Given the description of an element on the screen output the (x, y) to click on. 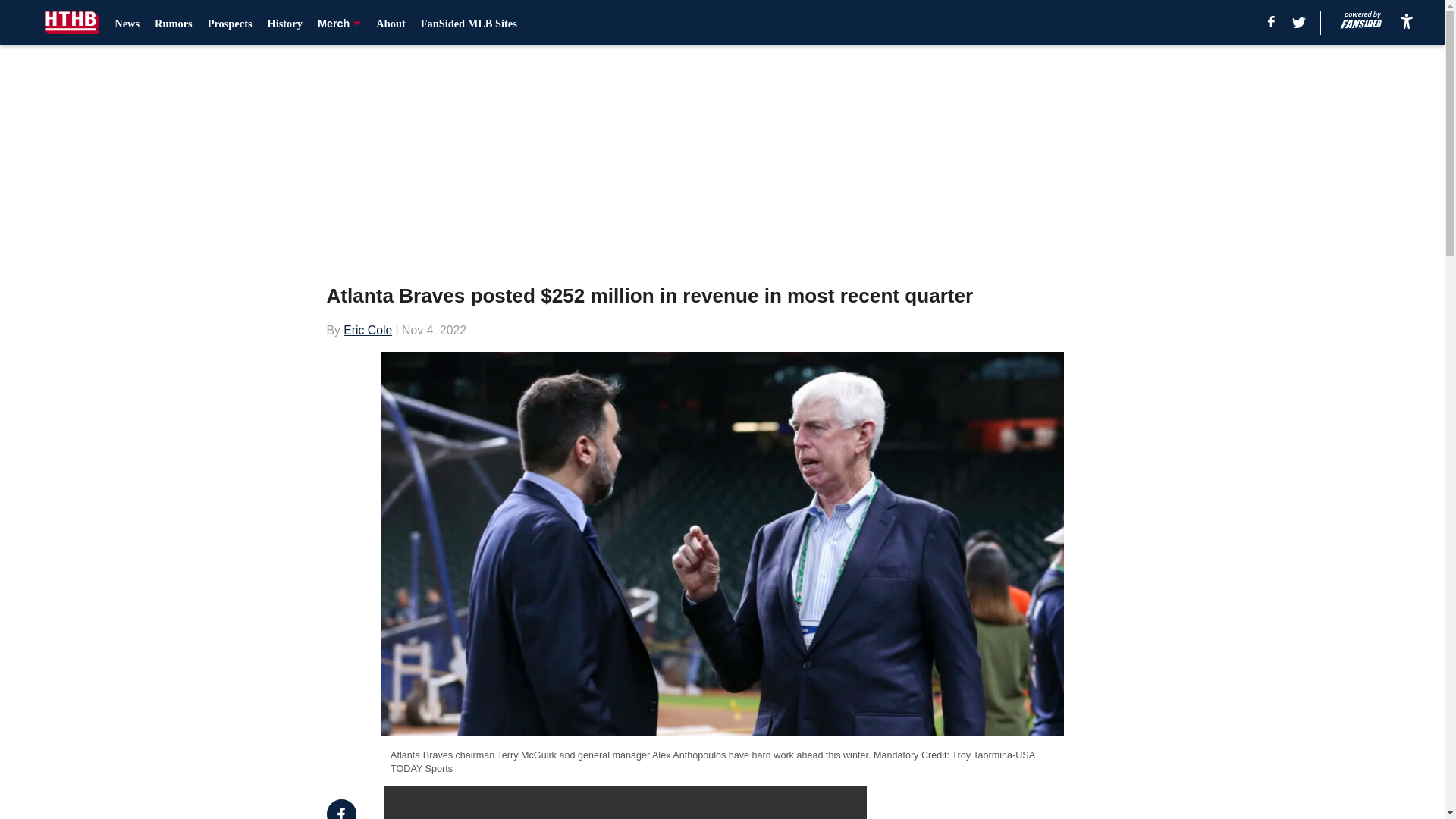
3rd party ad content (1005, 802)
Eric Cole (367, 329)
FanSided MLB Sites (468, 23)
Rumors (173, 23)
Prospects (229, 23)
News (127, 23)
About (389, 23)
History (284, 23)
